Given the description of an element on the screen output the (x, y) to click on. 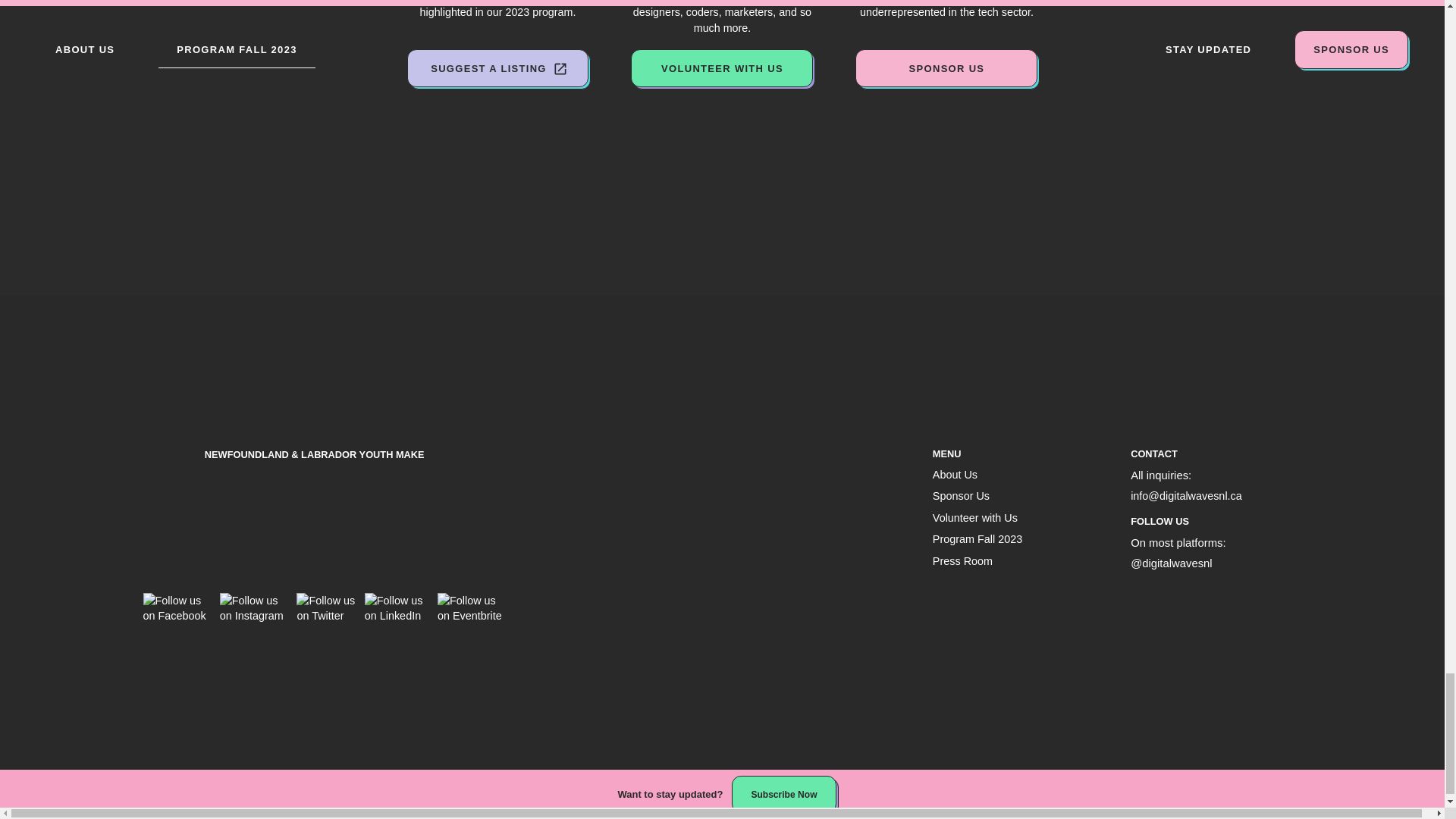
Sponsor Us (961, 495)
Subscribe Now (783, 794)
VOLUNTEER WITH US (721, 68)
Program Fall 2023 (977, 539)
SUGGEST A LISTING (497, 68)
SPONSOR US (946, 68)
About Us (954, 474)
Volunteer with Us (975, 517)
Press Room (962, 561)
